Given the description of an element on the screen output the (x, y) to click on. 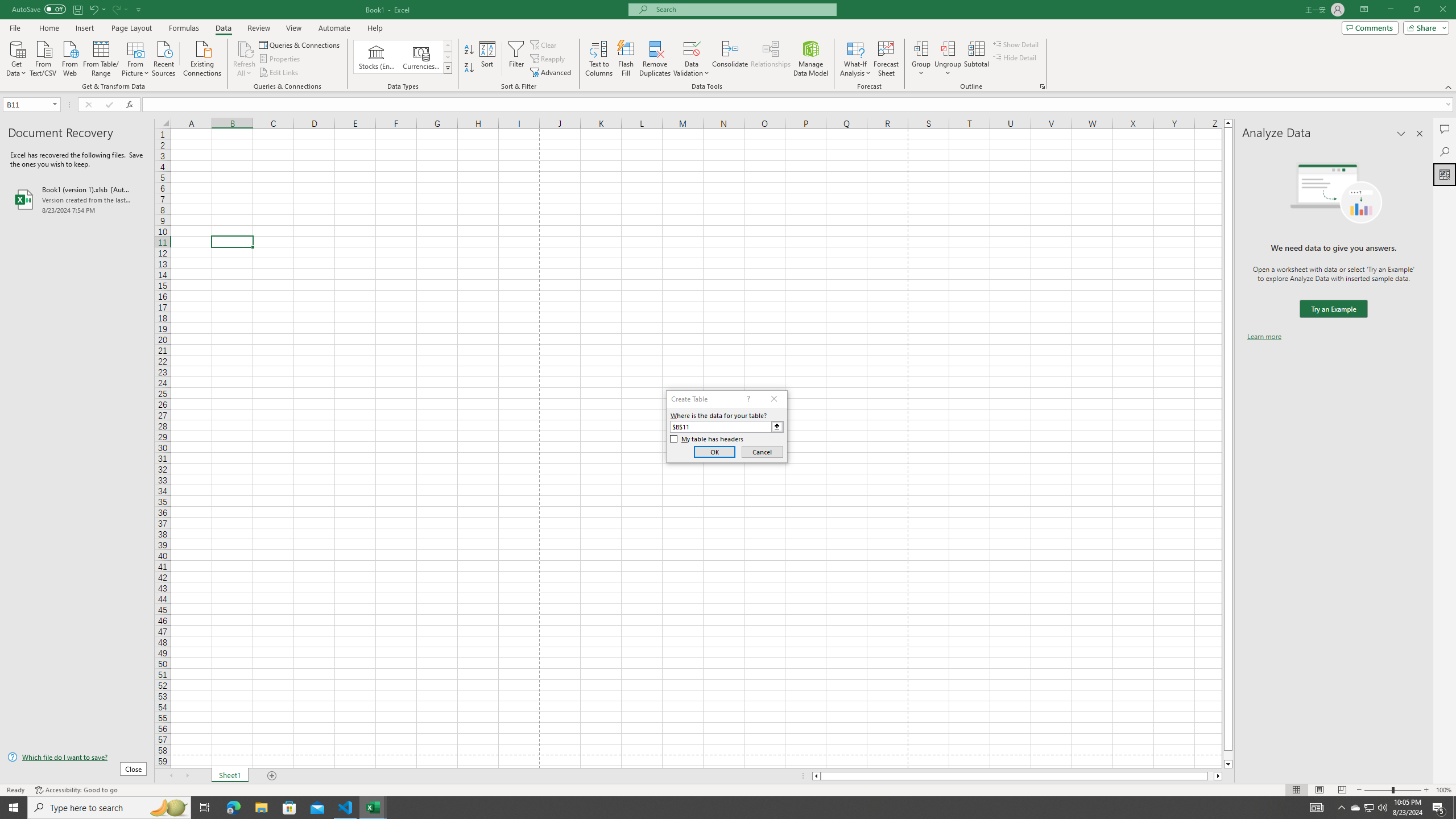
Column right (1218, 775)
Filter (515, 58)
Page Layout (131, 28)
Which file do I want to save? (77, 757)
Formula Bar (799, 104)
Close (1442, 9)
Queries & Connections (300, 44)
Page right (1211, 775)
Redo (119, 9)
Page Layout (1318, 790)
Ungroup... (947, 48)
Share (1423, 27)
Edit Links (279, 72)
Quick Access Toolbar (77, 9)
Data Types (448, 67)
